Given the description of an element on the screen output the (x, y) to click on. 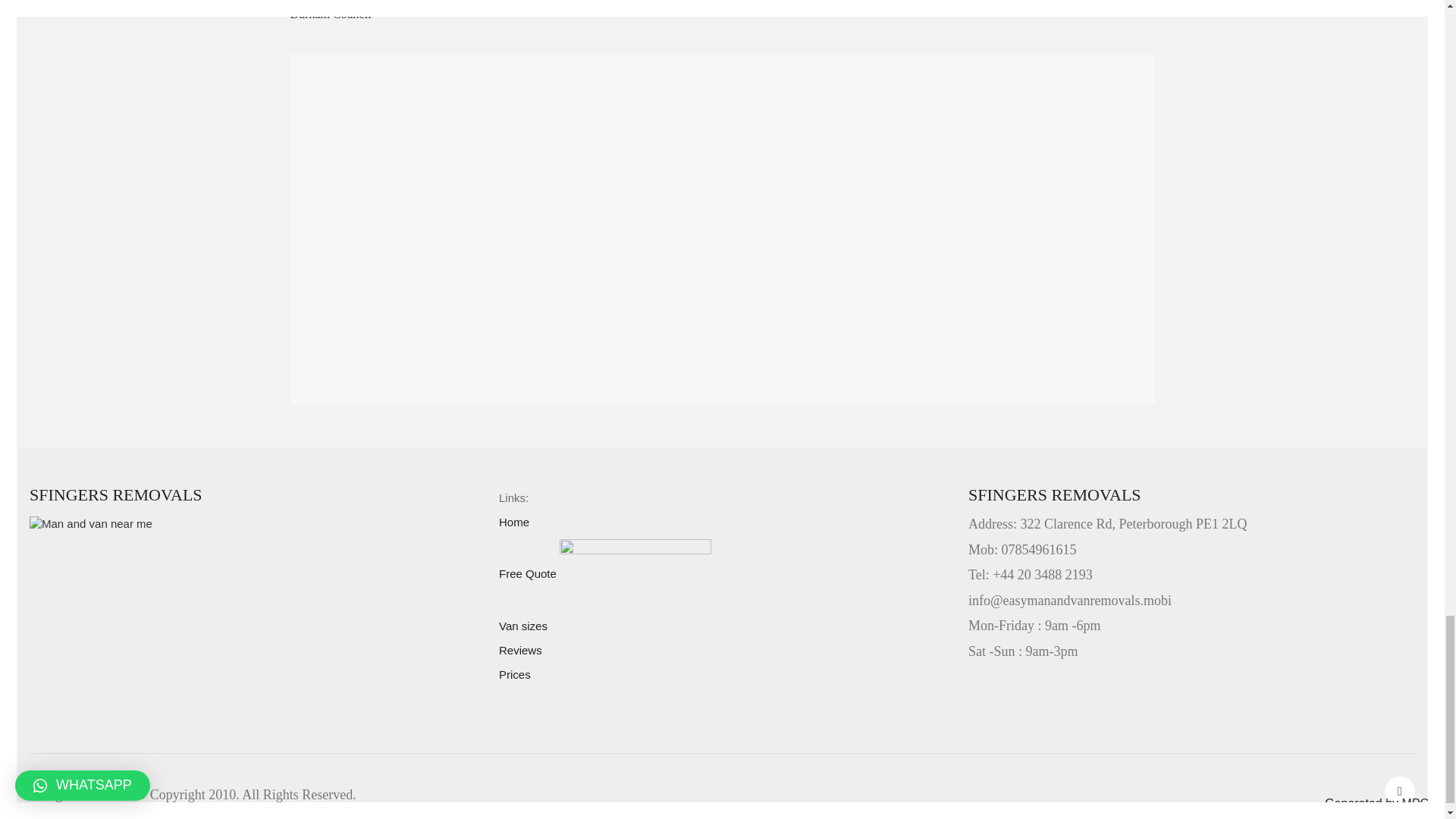
Facebook (1399, 791)
